Given the description of an element on the screen output the (x, y) to click on. 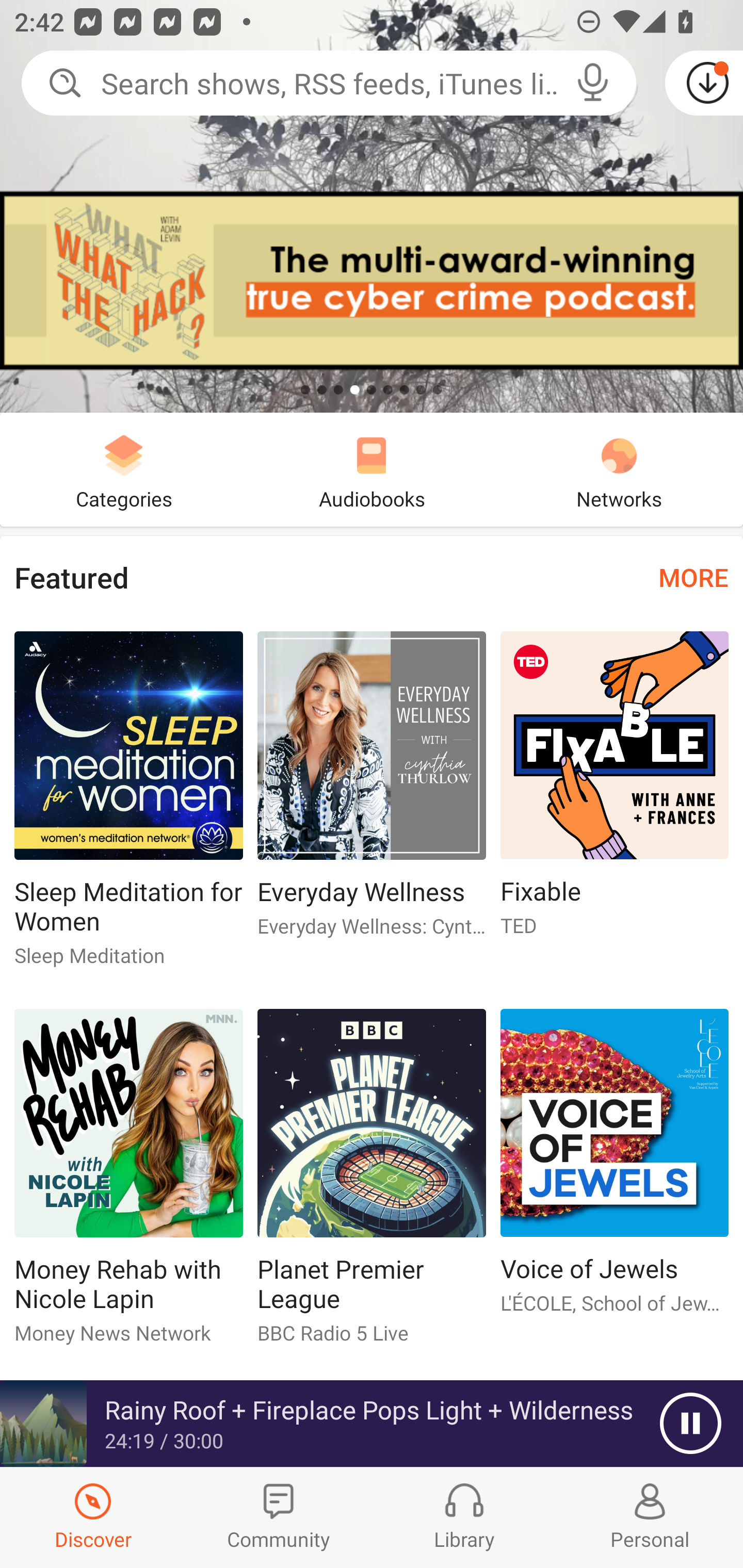
What the Hack with Adam Levin (371, 206)
Categories (123, 469)
Audiobooks (371, 469)
Networks (619, 469)
MORE (693, 576)
Fixable Fixable TED (614, 792)
Pause (690, 1423)
Discover (92, 1517)
Community (278, 1517)
Library (464, 1517)
Profiles and Settings Personal (650, 1517)
